Given the description of an element on the screen output the (x, y) to click on. 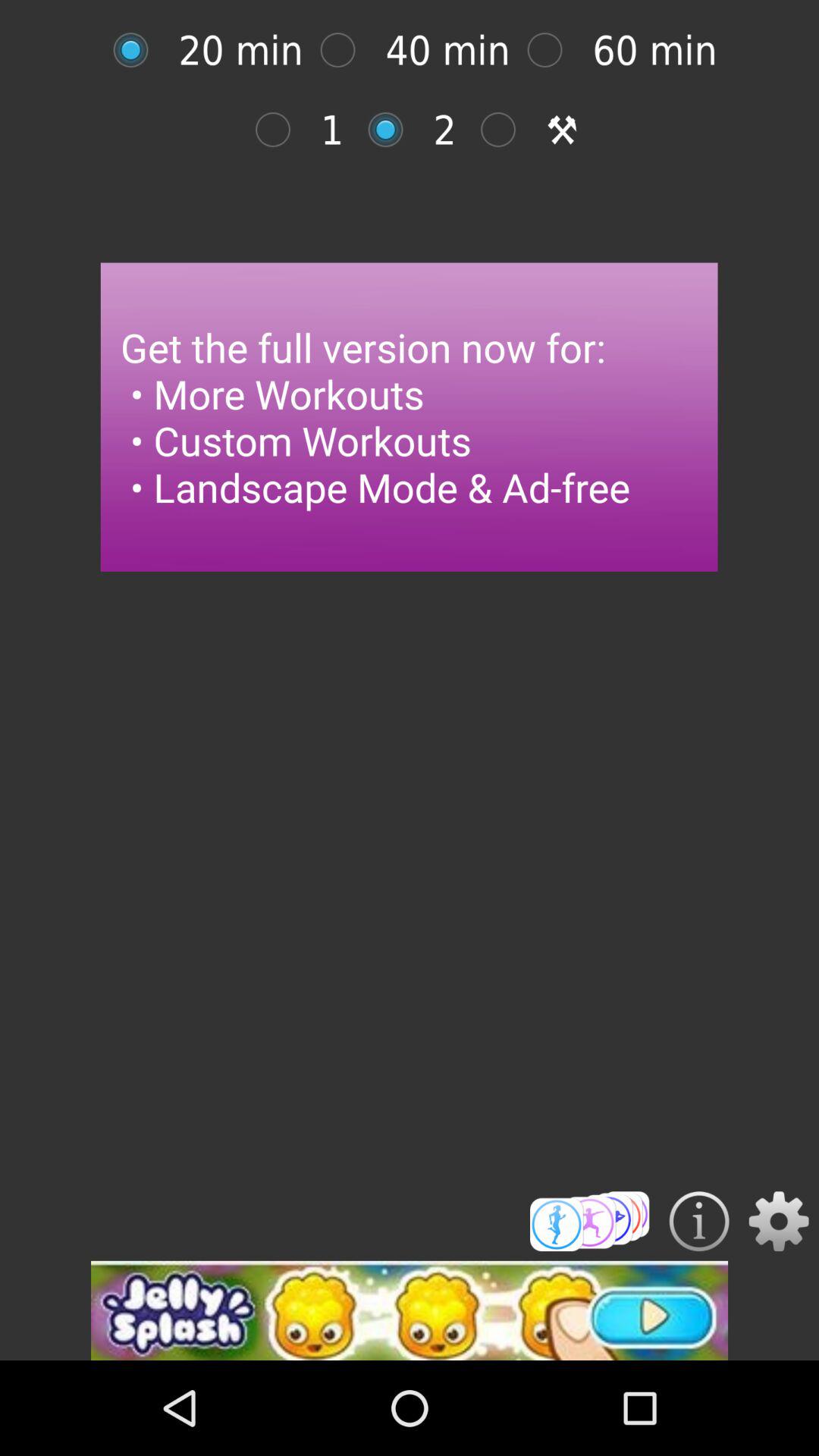
help (699, 1221)
